Given the description of an element on the screen output the (x, y) to click on. 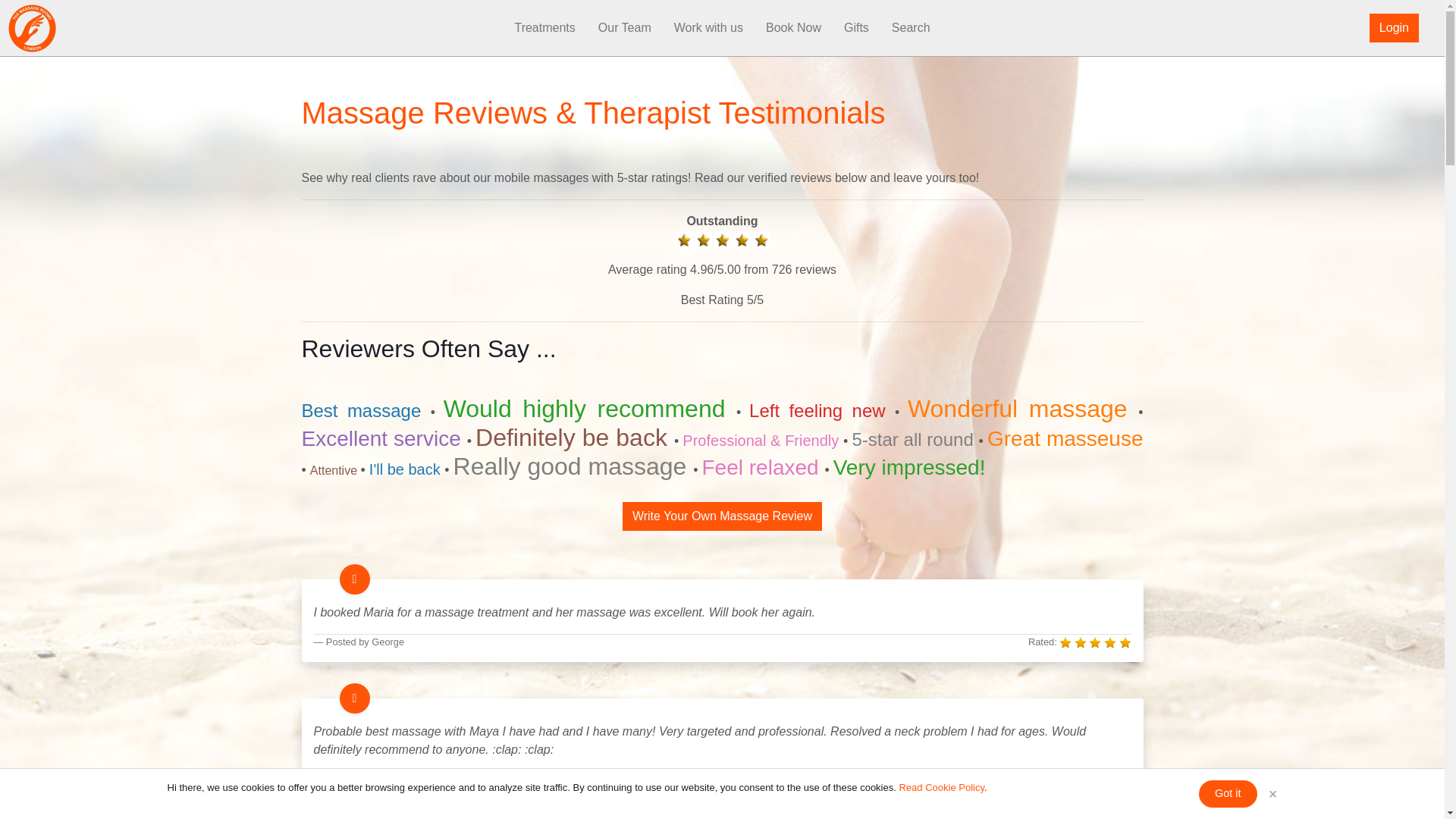
Our Team (624, 28)
Login (1394, 27)
Work with us (708, 28)
Go to The Massage Rooms home page (31, 27)
Treatments (544, 28)
Book Now (793, 28)
Search (911, 28)
Write Your Own Massage Review (722, 516)
Go to The Massage Rooms home page (75, 28)
Gifts (856, 28)
